Given the description of an element on the screen output the (x, y) to click on. 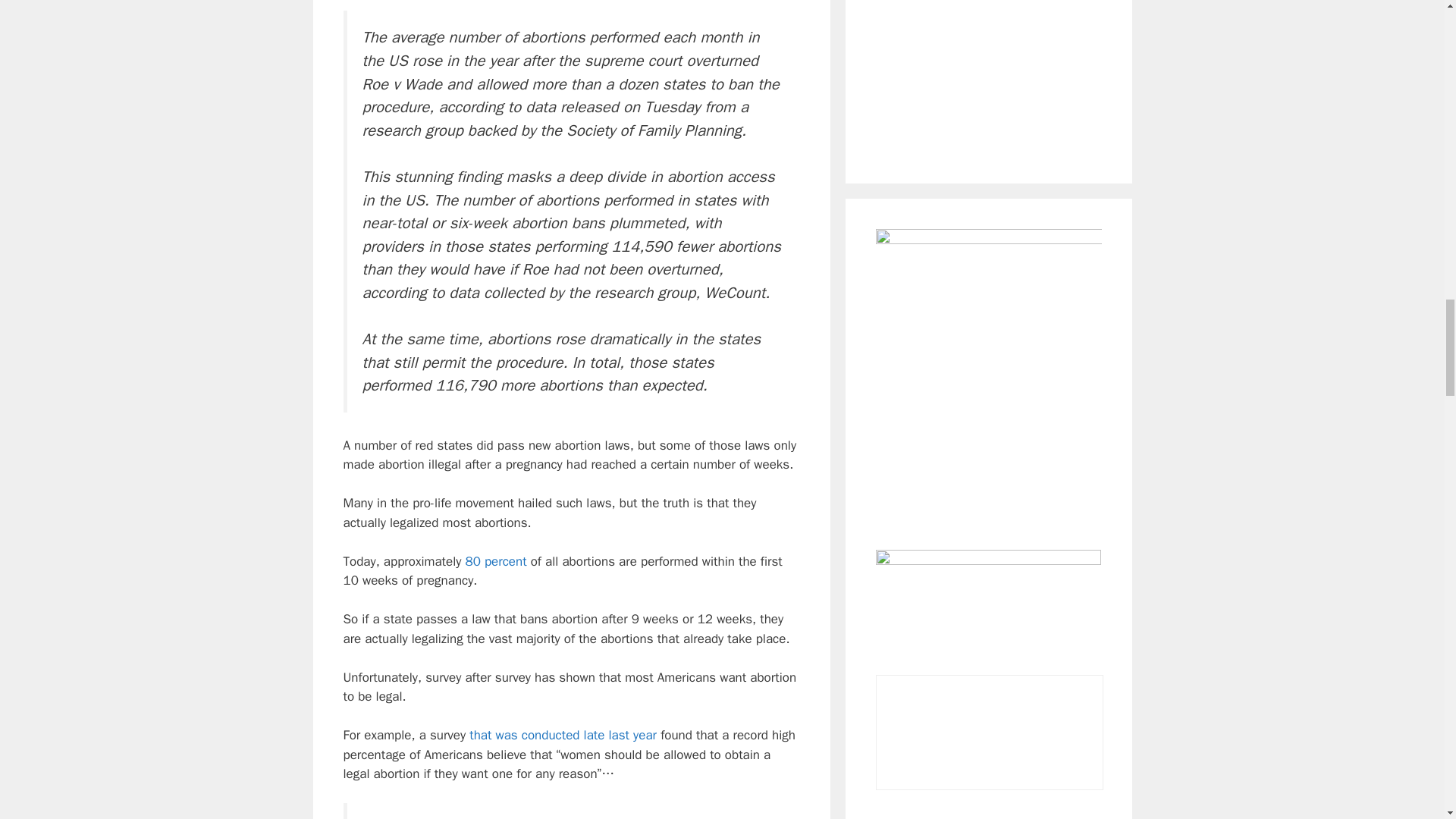
80 percent (494, 561)
that was conducted late last year (562, 734)
